Given the description of an element on the screen output the (x, y) to click on. 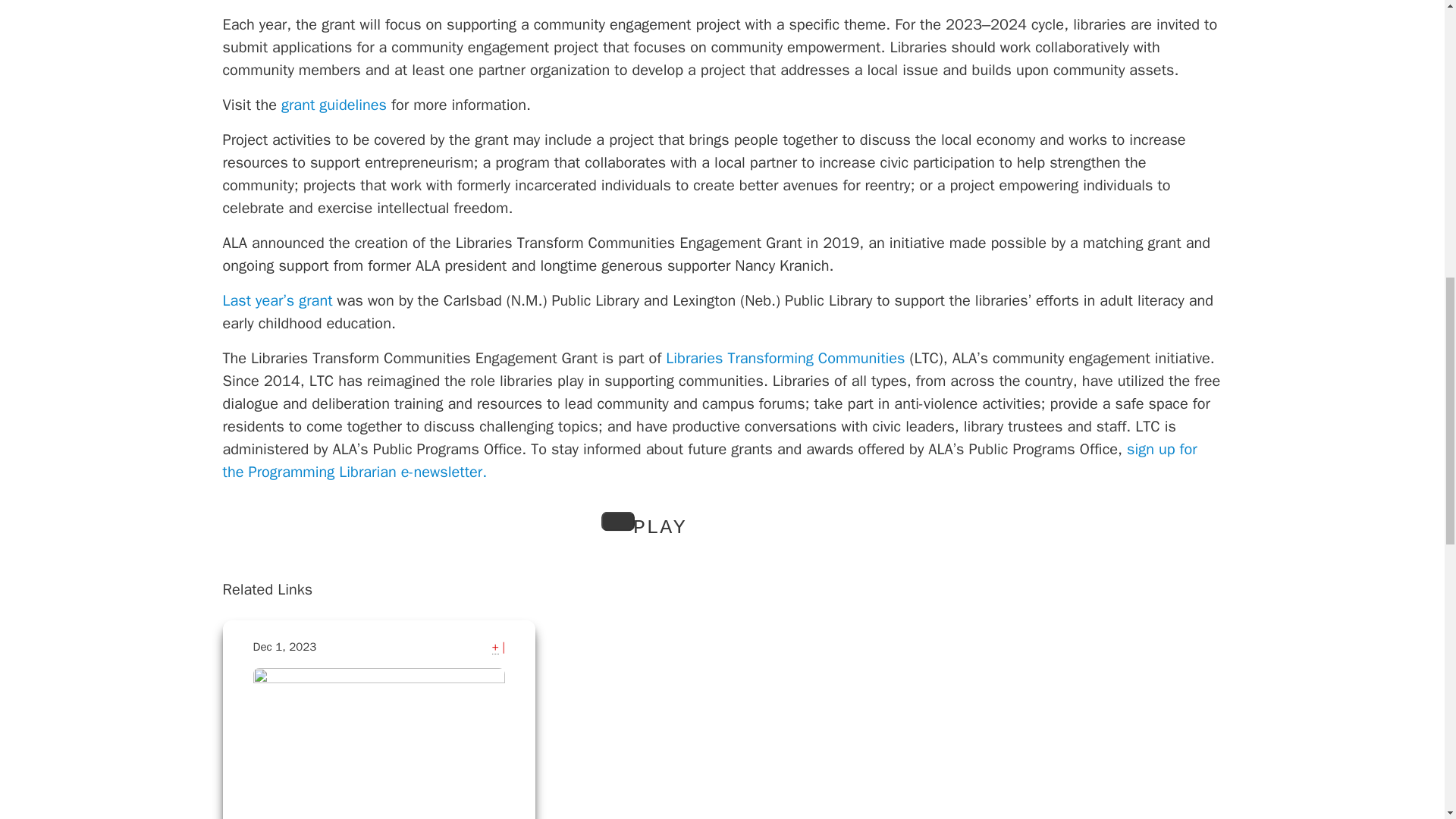
PLAY (616, 521)
sign up for the Programming Librarian e-newsletter. (709, 460)
Libraries Transforming Communities (784, 357)
Image (379, 735)
grant guidelines (334, 104)
